Given the description of an element on the screen output the (x, y) to click on. 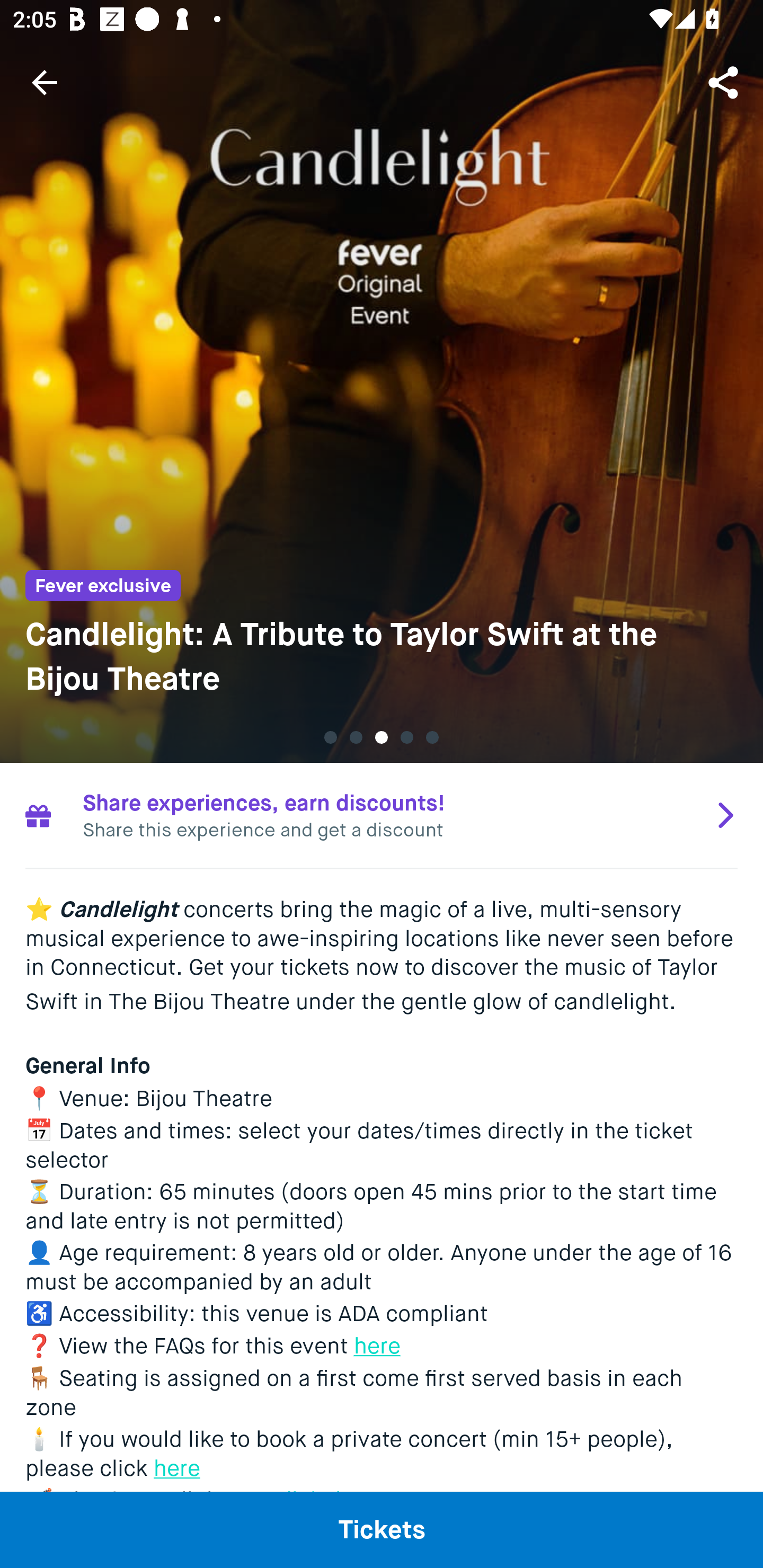
Navigate up (44, 82)
Share (724, 81)
Tickets (381, 1529)
